Given the description of an element on the screen output the (x, y) to click on. 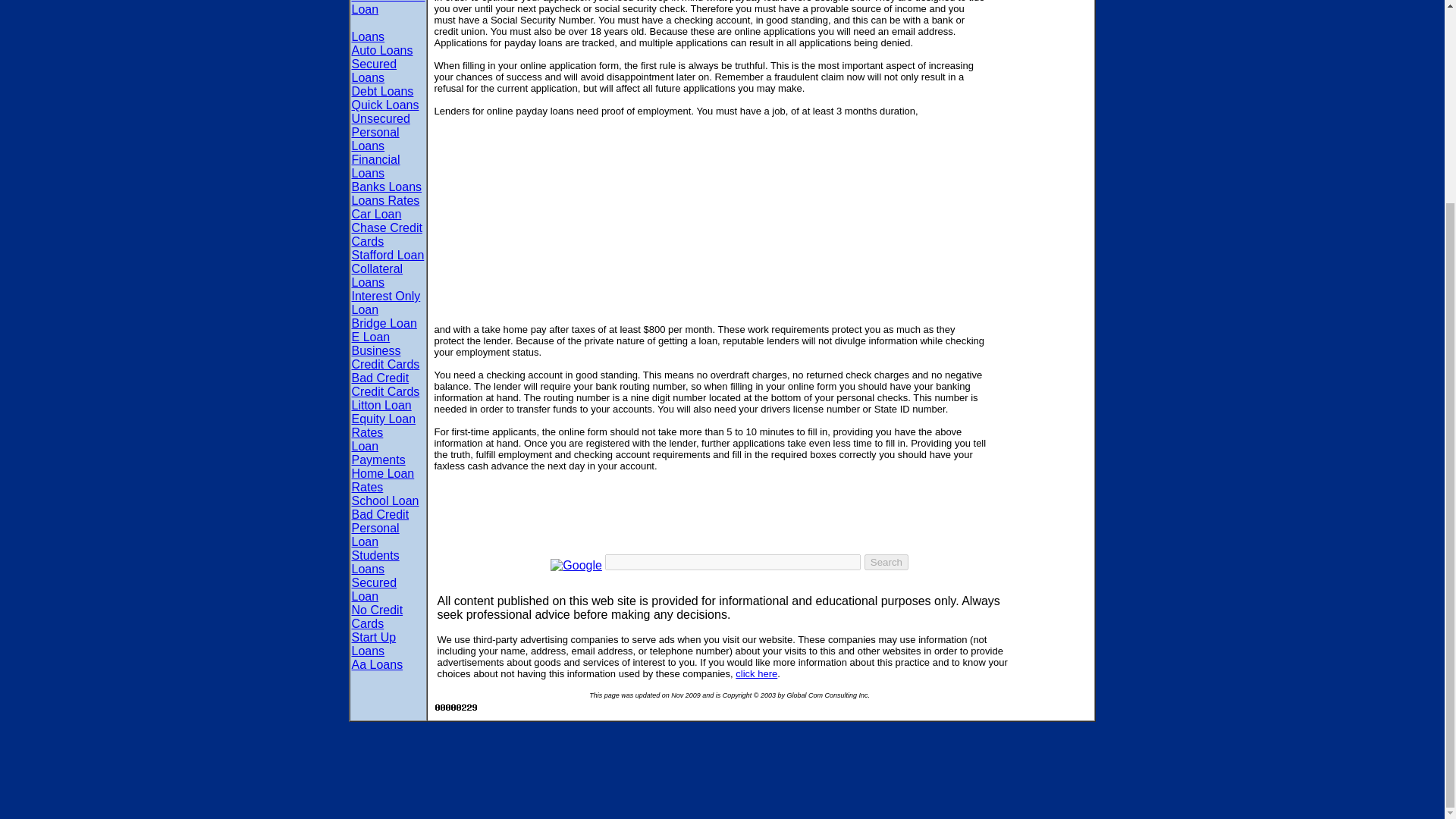
Litton Loan (382, 404)
Advertisement (709, 251)
Car Loan (376, 214)
Students Loans (375, 561)
Secured Loan (374, 589)
Stafford Loan (388, 254)
Interest Only Loan (386, 302)
Collateral Loans (377, 275)
Bad Credit Personal Loan (380, 527)
E Loan (371, 336)
Loan Payments (379, 452)
Quick Loans (385, 104)
Start Up Loans (374, 643)
Unsecured Personal Loans (381, 132)
Aa Loans (377, 664)
